Given the description of an element on the screen output the (x, y) to click on. 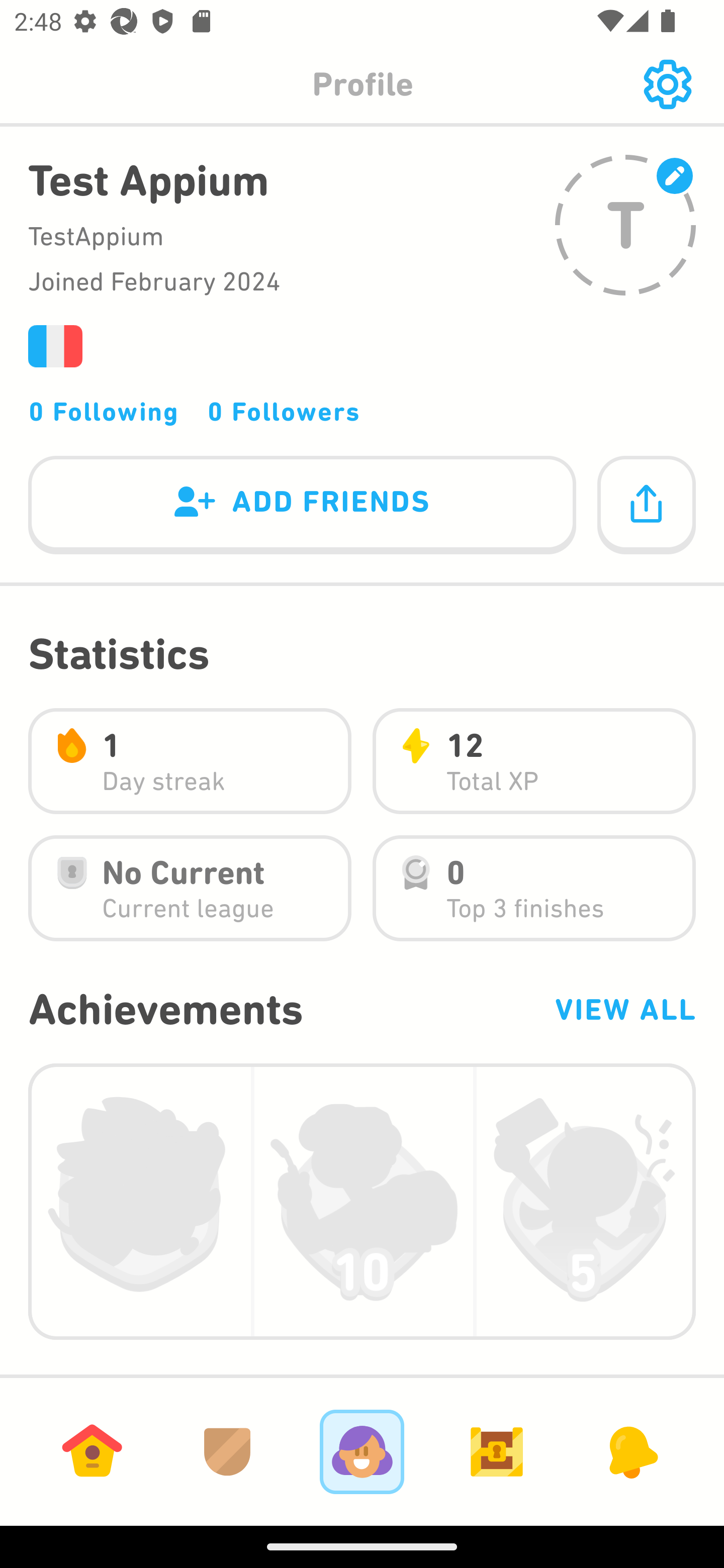
Settings (667, 84)
0 Following (103, 411)
0 Followers (283, 411)
ADD FRIENDS (302, 505)
1 Day streak (189, 760)
VIEW ALL (624, 1009)
Learn Tab (91, 1451)
Leagues Tab (227, 1451)
Profile Tab (361, 1451)
Goals Tab (496, 1451)
News Tab (631, 1451)
